Given the description of an element on the screen output the (x, y) to click on. 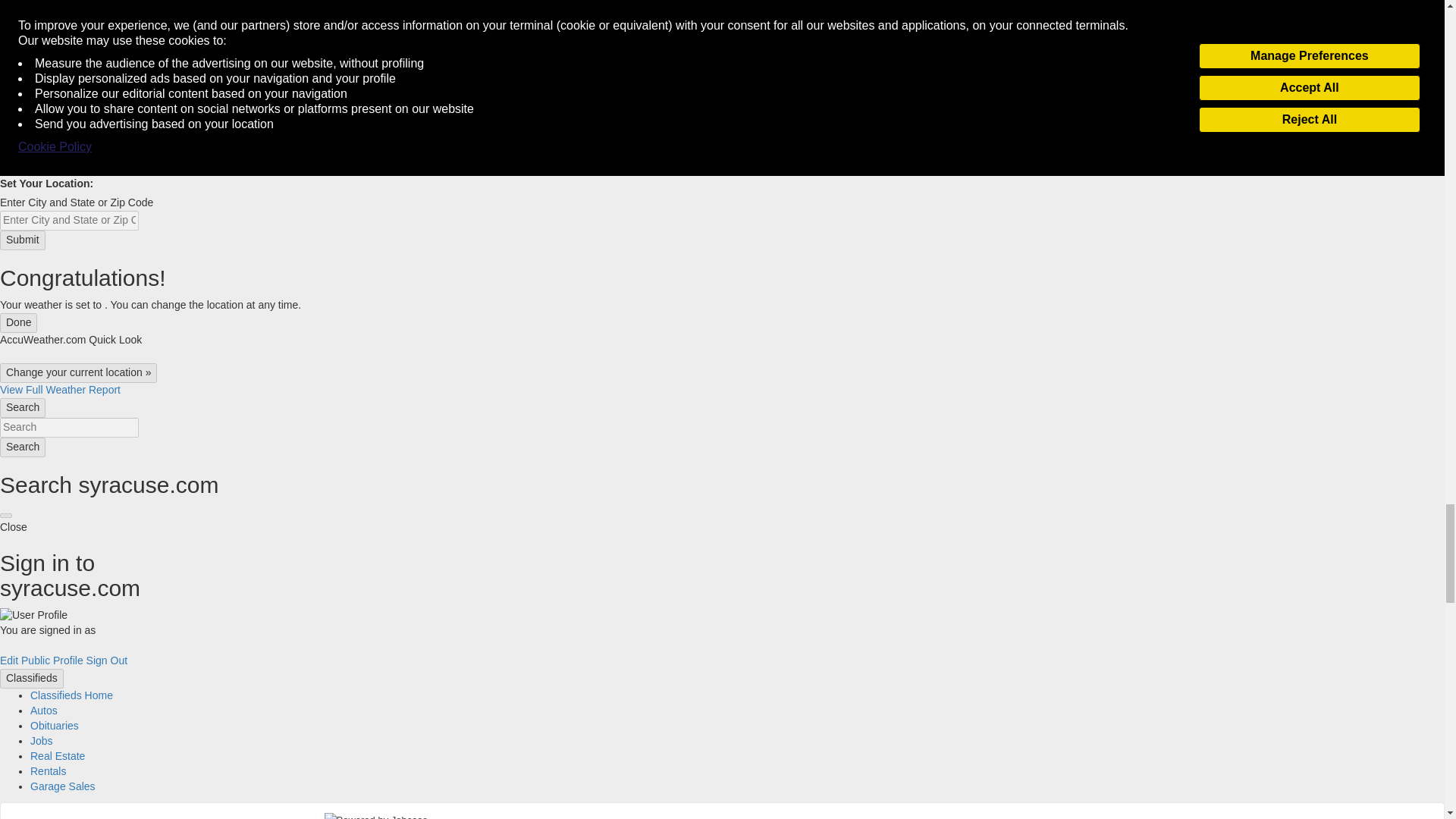
Submit (22, 240)
Edit your profile (8, 660)
Search (22, 447)
Done (18, 322)
Search (69, 427)
Sign out (106, 660)
View your public profile (51, 660)
